Given the description of an element on the screen output the (x, y) to click on. 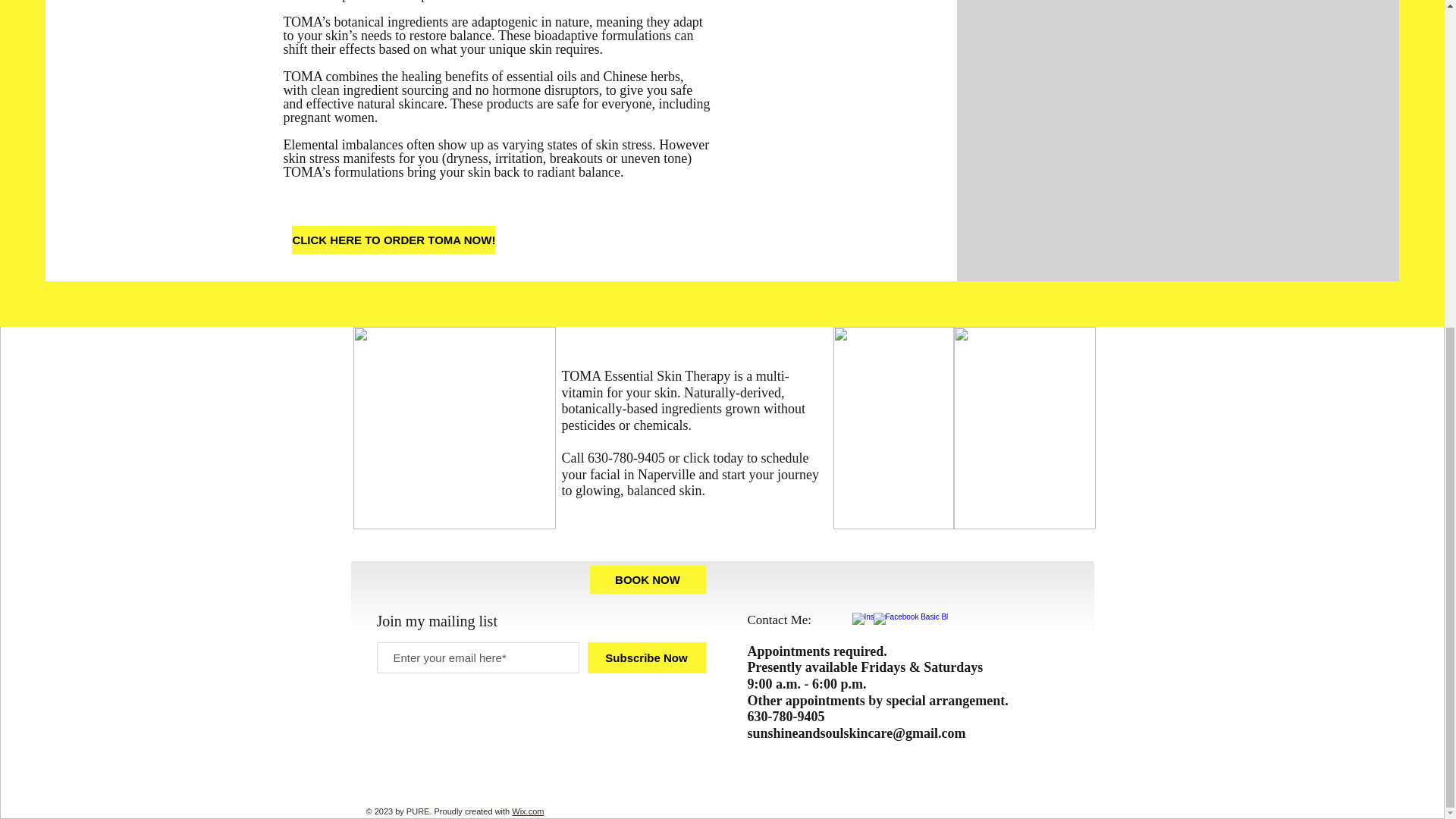
Vegan Skin Care.png (454, 427)
CLICK HERE TO ORDER TOMA NOW! (393, 239)
Subscribe Now (645, 657)
Wix.com (527, 810)
BOOK NOW (647, 579)
